Given the description of an element on the screen output the (x, y) to click on. 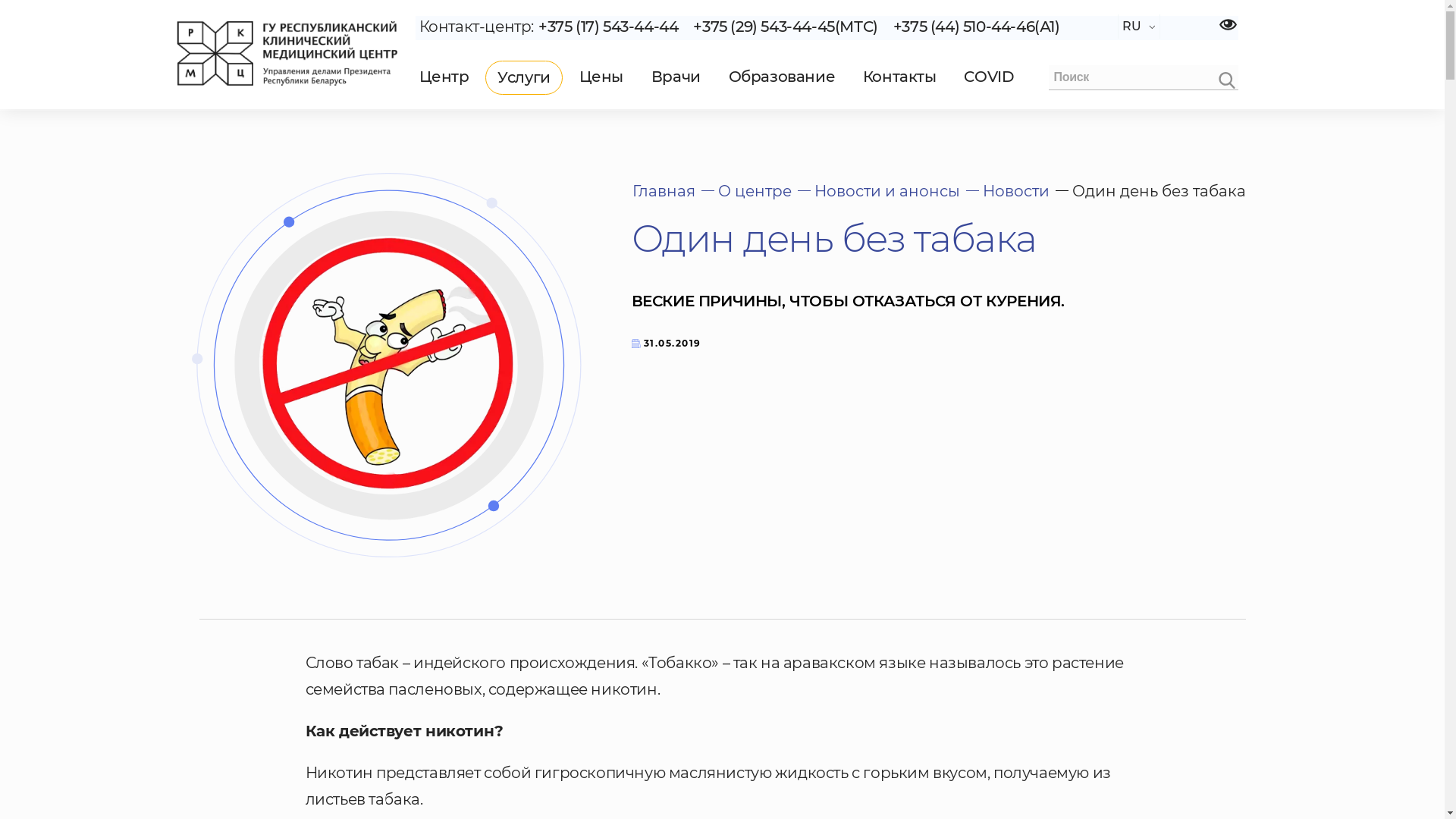
COVID Element type: text (988, 76)
+375 (44) 510-44-46 Element type: text (963, 26)
+375 (17) 543-44-44 Element type: text (607, 26)
+375 (29) 543-44-45 Element type: text (763, 26)
